Given the description of an element on the screen output the (x, y) to click on. 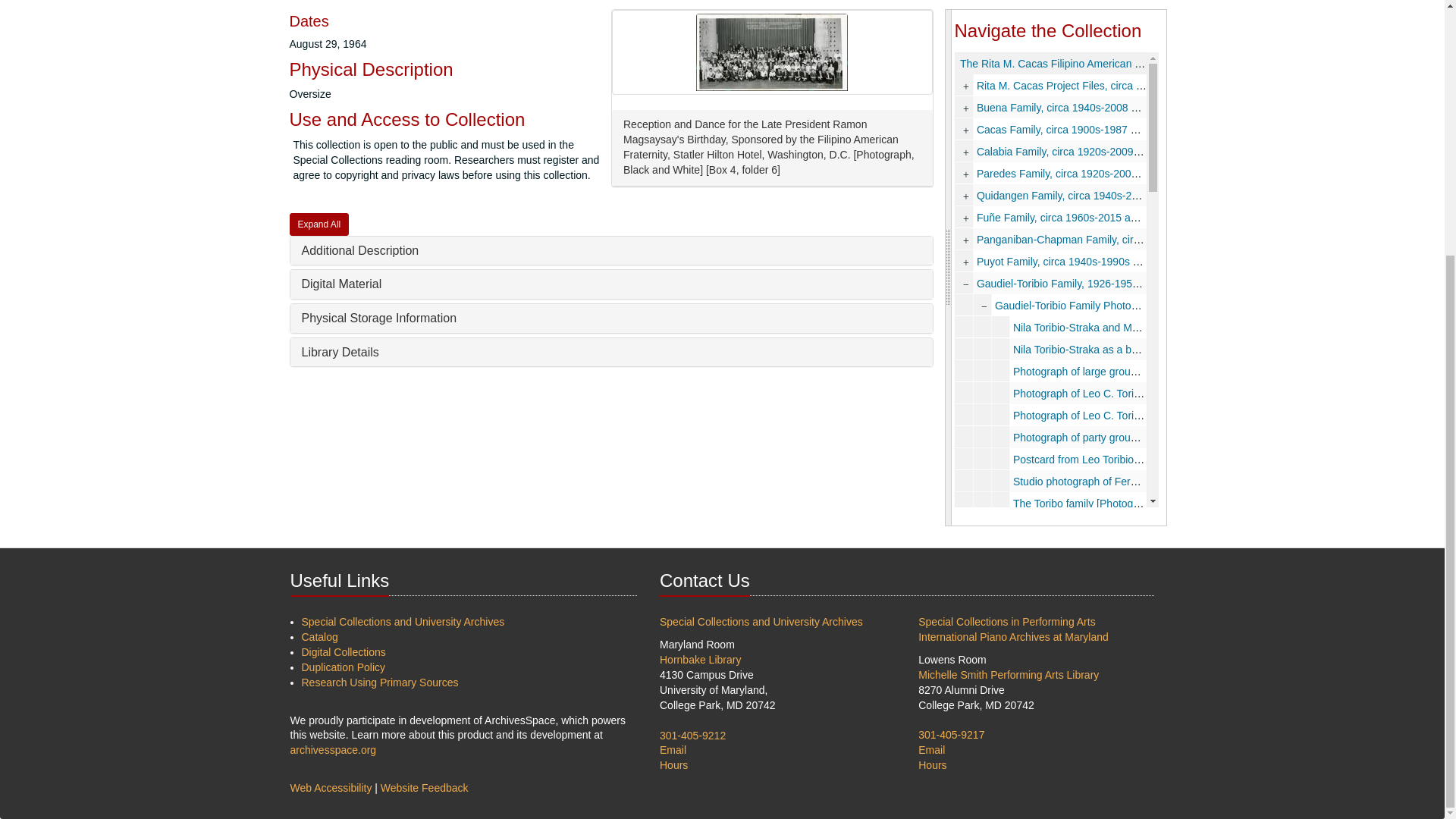
Digital Material (341, 283)
Cacas Family (1051, 128)
Gaudiel-Toribio Family (1051, 282)
Link to digital object (772, 52)
Puyot Family (1051, 260)
Panganiban-Chapman Family (1051, 239)
Expand All (319, 223)
Physical Storage Information (379, 318)
Buena Family (1051, 106)
Library Details (339, 351)
